Given the description of an element on the screen output the (x, y) to click on. 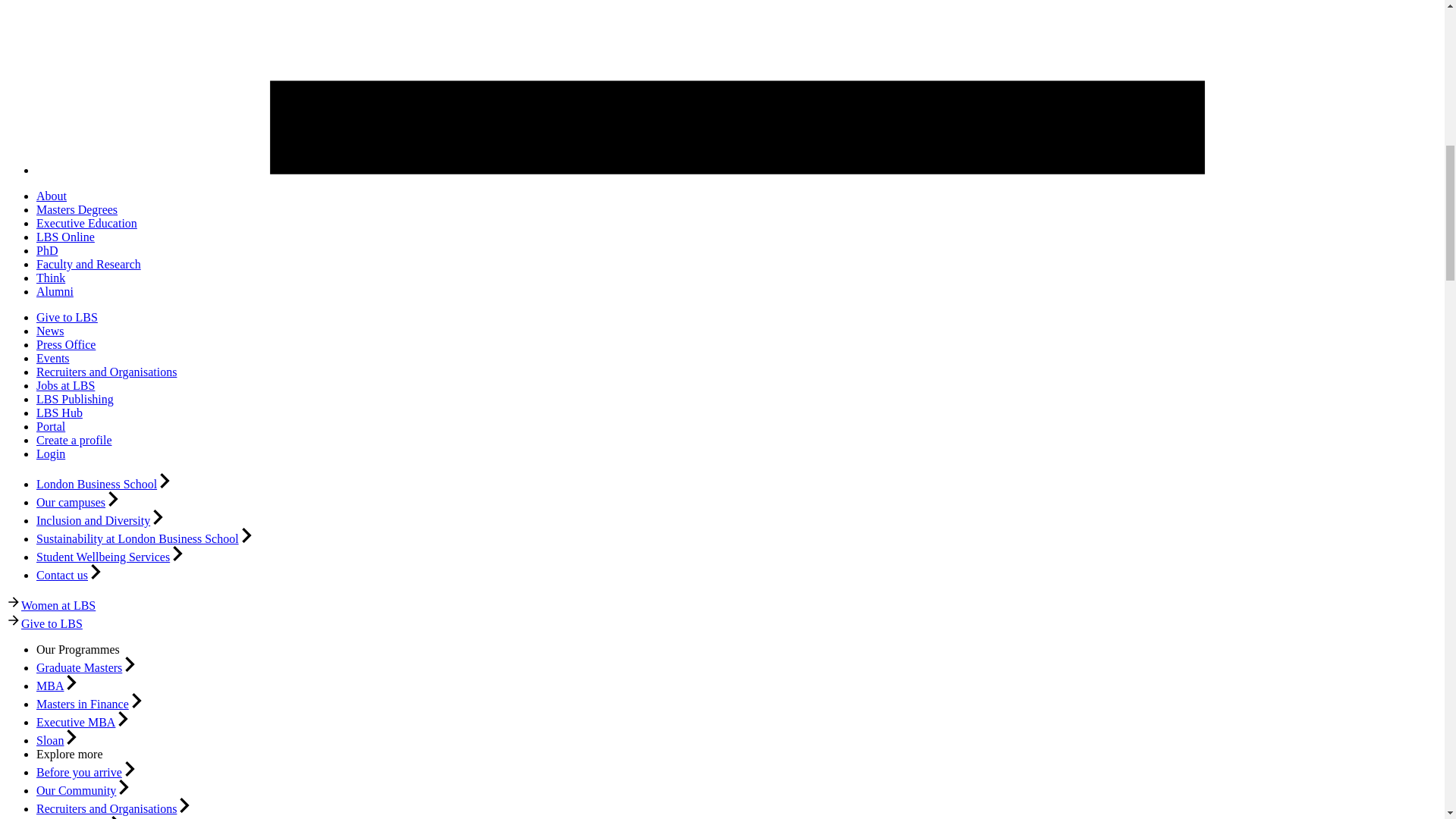
Jobs at LBS (65, 385)
Think (50, 277)
Inclusion and Diversity (92, 520)
Alumni (55, 291)
Sustainability at London Business School (137, 538)
About (51, 195)
Give to LBS (66, 317)
Events (52, 358)
Create a profile (74, 440)
Contact us (61, 574)
